Given the description of an element on the screen output the (x, y) to click on. 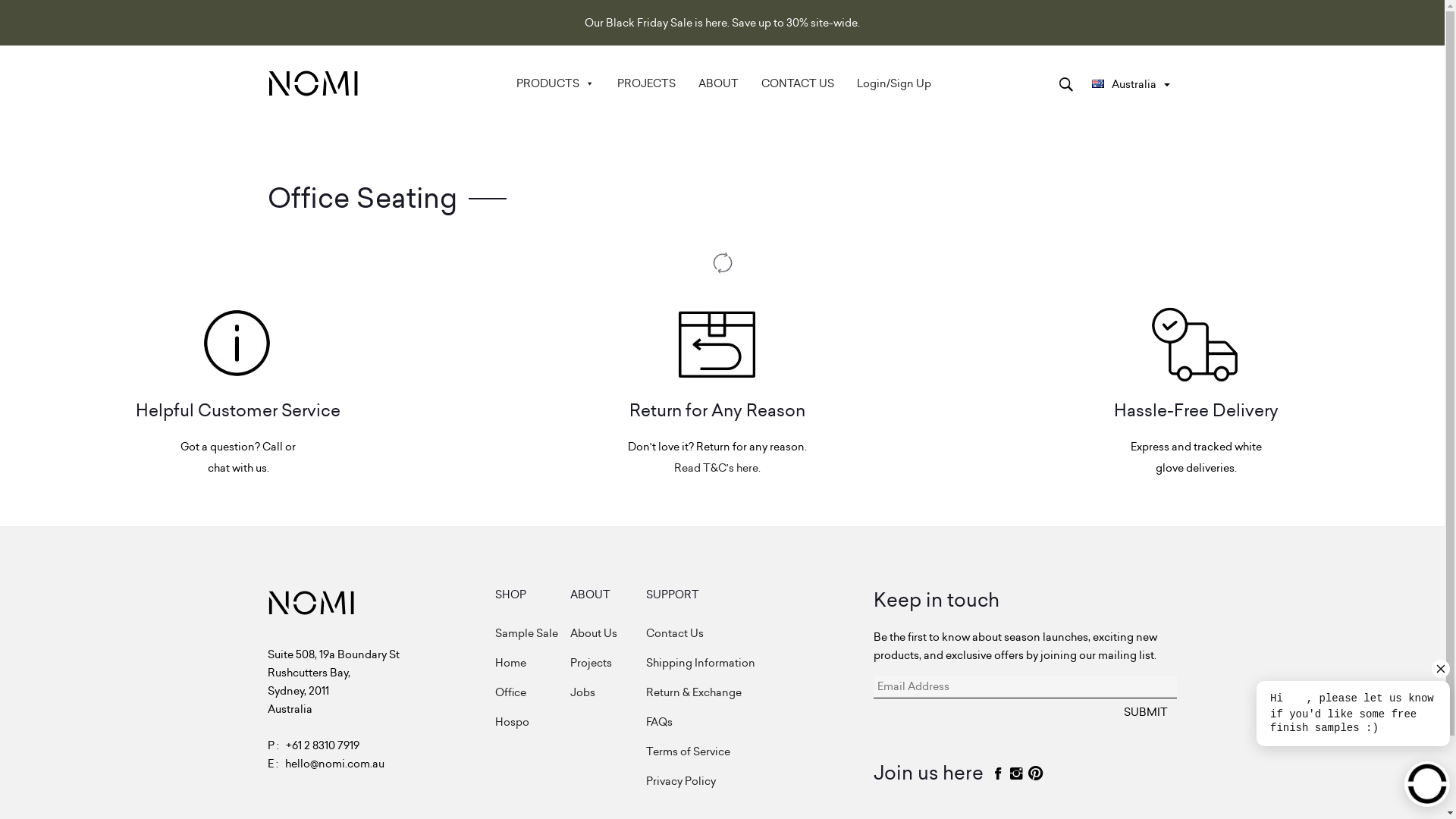
Jobs Element type: text (608, 692)
Login/Sign Up Element type: text (893, 83)
Home Element type: text (532, 662)
About Us Element type: text (608, 632)
Contact Us Element type: text (759, 632)
... LOAD MORE ... Element type: text (721, 255)
Return for Any Reason Element type: text (717, 376)
Sample Sale Element type: text (532, 632)
CONTACT US Element type: text (797, 83)
icon-social-pinterest Element type: hover (1035, 773)
ABOUT Element type: text (718, 83)
Terms of Service Element type: text (759, 751)
Read T&C's here. Element type: text (717, 467)
PROJECTS Element type: text (646, 83)
Projects Element type: text (608, 662)
PRODUCTS Element type: text (555, 83)
Hassle-Free Delivery Element type: text (1195, 376)
Helpful Customer Service Element type: text (238, 376)
Office Element type: text (532, 692)
Return & Exchange Element type: text (759, 692)
Shipping Information Element type: text (759, 662)
icon-social-facebook Element type: hover (997, 773)
FAQs Element type: text (759, 721)
Hospo Element type: text (532, 721)
icon-social-instagram Element type: hover (1016, 773)
Privacy Policy Element type: text (759, 780)
NOMI AUSTRALIA Element type: text (437, 98)
Australia Element type: text (1131, 83)
